Given the description of an element on the screen output the (x, y) to click on. 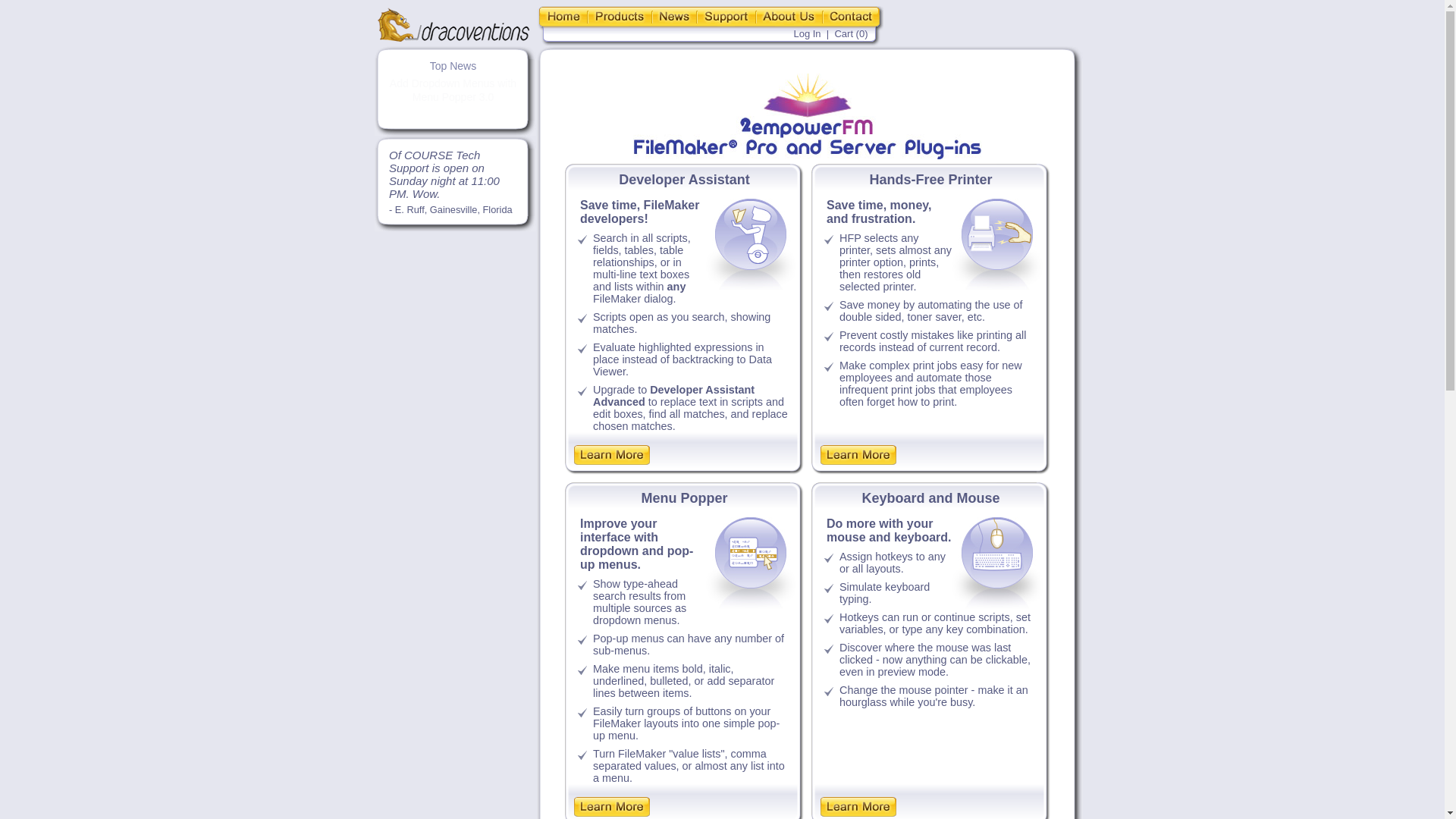
Products Element type: text (618, 16)
Log In Element type: text (806, 33)
About Us Element type: text (788, 16)
Top News Element type: text (452, 65)
Cart (0) Element type: text (850, 33)
Support Element type: text (725, 16)
HFP fix for macOS 13 on Intel and DA updates Element type: text (452, 90)
News Element type: text (674, 16)
Contact Element type: text (852, 16)
Home Element type: text (561, 16)
